Given the description of an element on the screen output the (x, y) to click on. 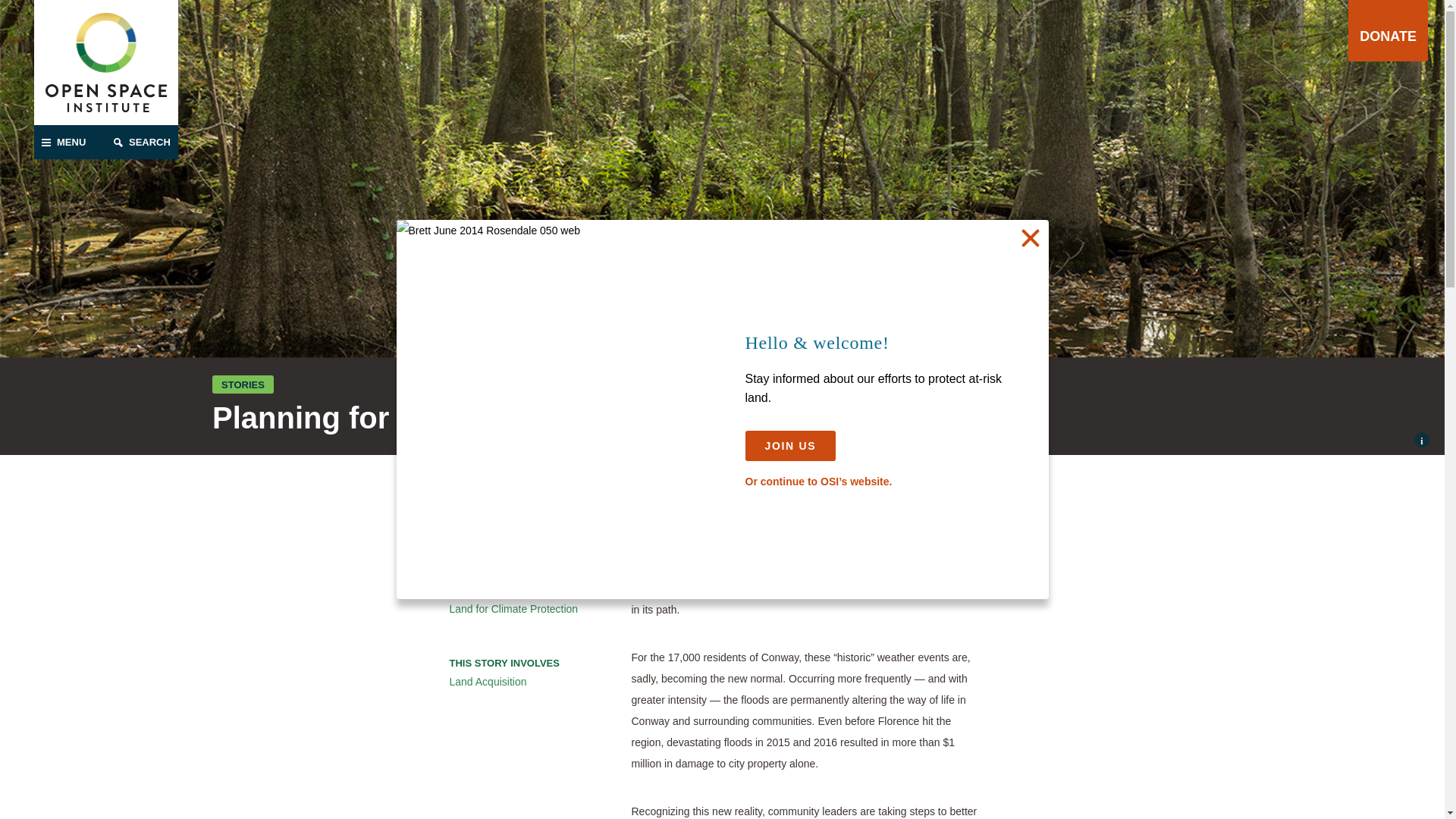
Land Acquisition (523, 681)
STORIES (242, 384)
MENU (69, 141)
Land for Climate Protection (523, 608)
South Carolina (523, 535)
SEARCH (141, 141)
DONATE (1388, 30)
